Given the description of an element on the screen output the (x, y) to click on. 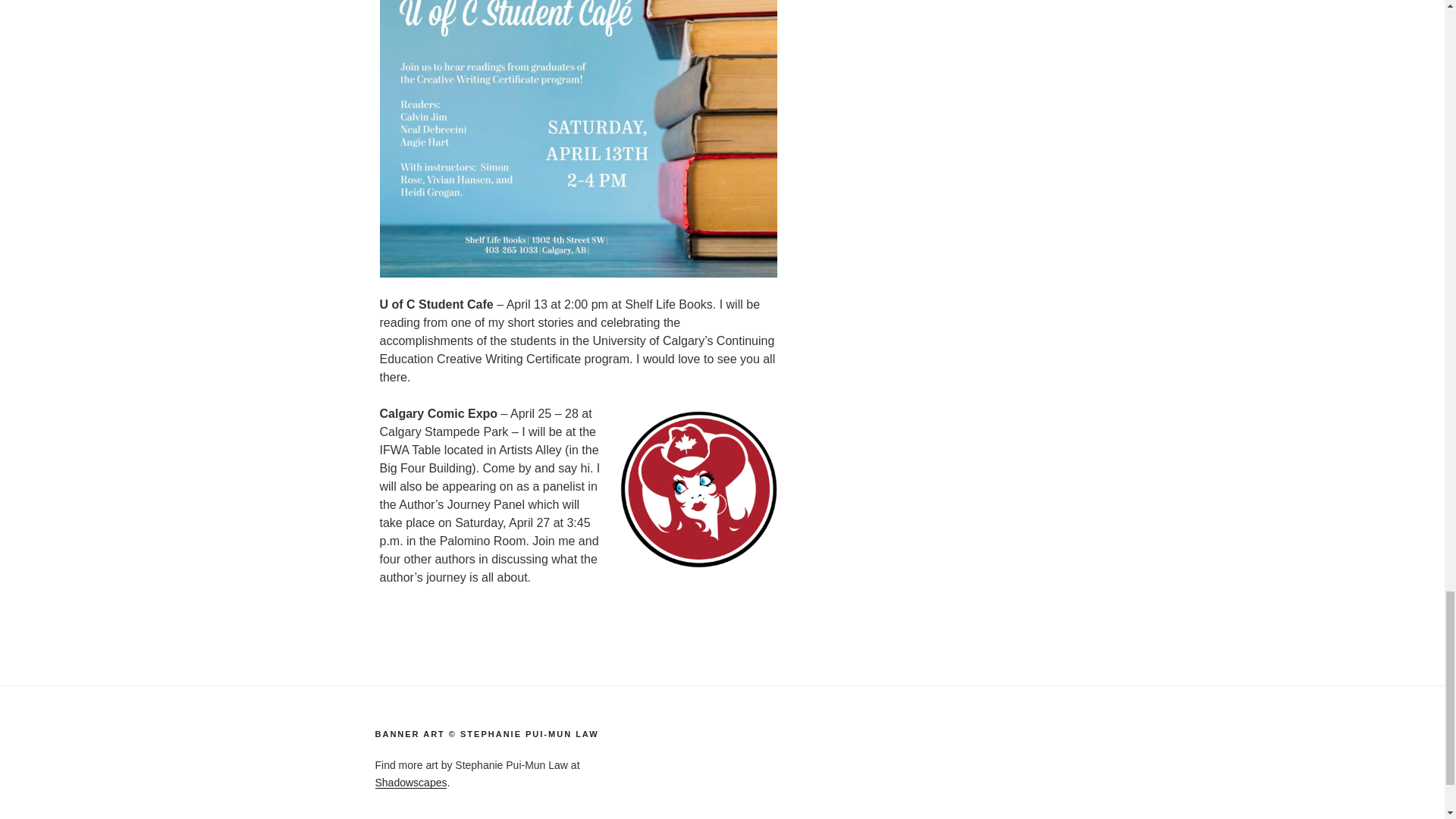
Shadowscapes (410, 782)
